Given the description of an element on the screen output the (x, y) to click on. 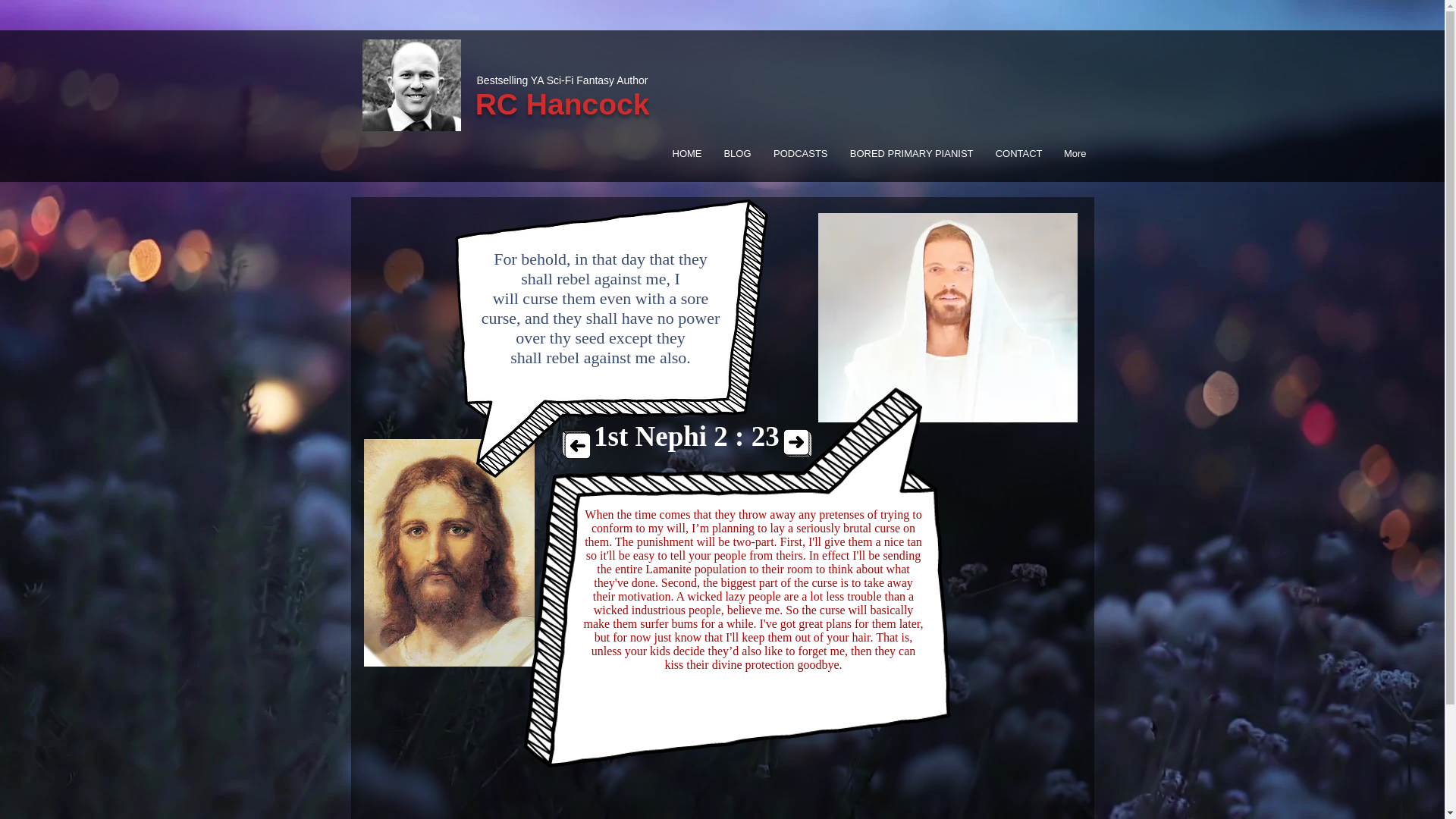
PODCASTS (797, 153)
HOME (684, 153)
BLOG (734, 153)
RC Hancock (562, 103)
CONTACT (1015, 153)
BORED PRIMARY PIANIST (908, 153)
